Given the description of an element on the screen output the (x, y) to click on. 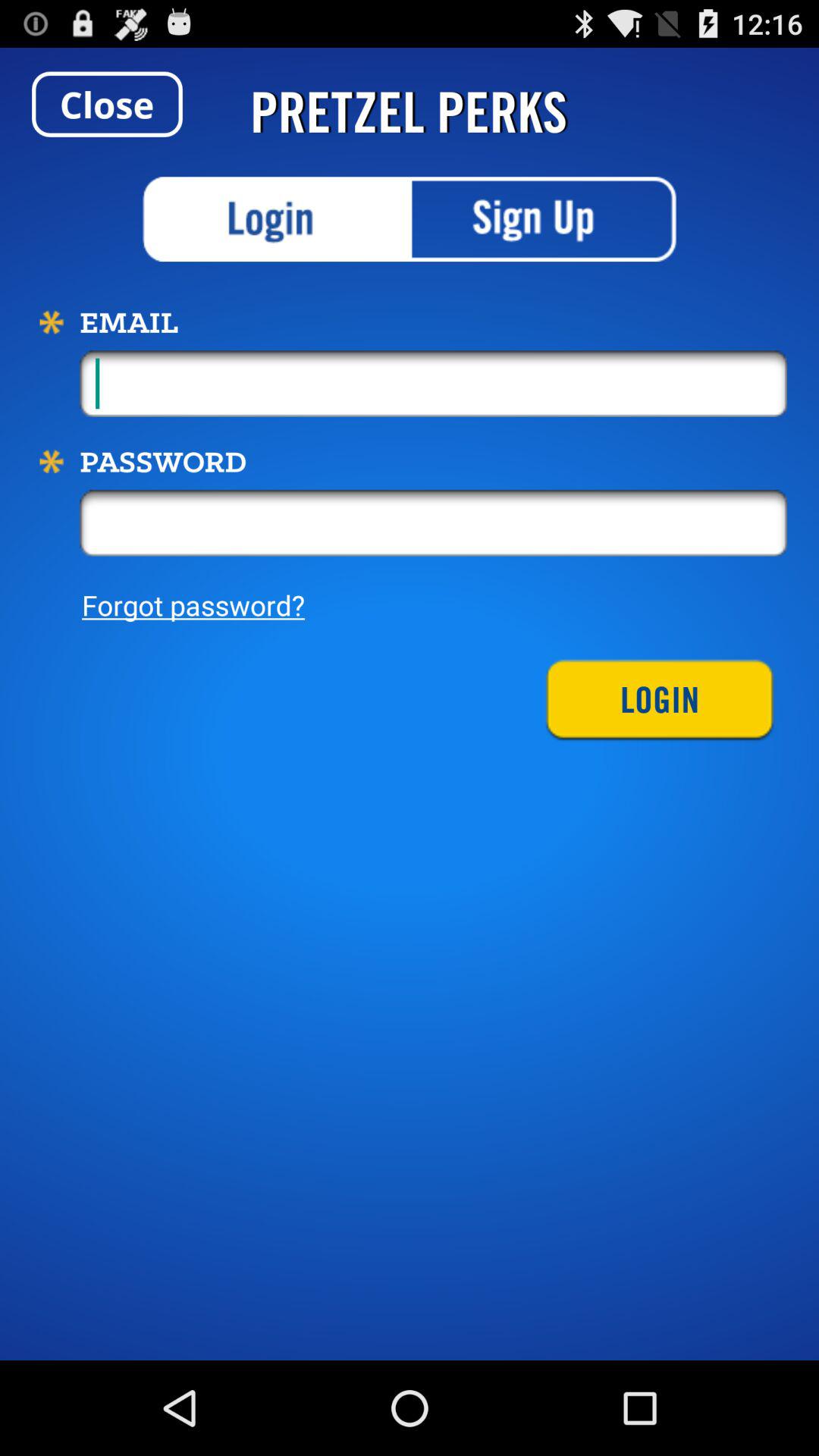
toggle sign up (543, 218)
